Given the description of an element on the screen output the (x, y) to click on. 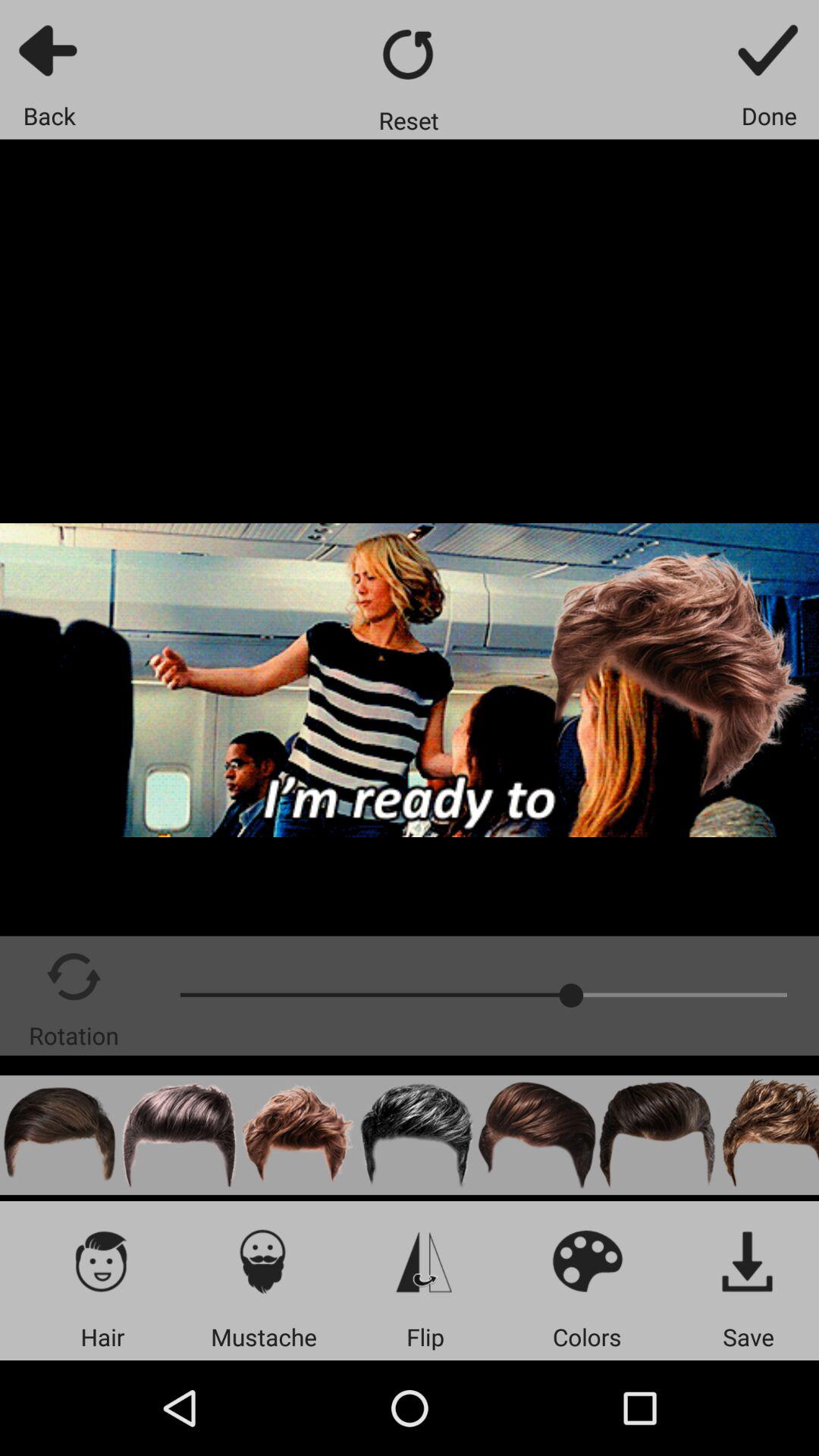
turn on item above the flip (425, 1260)
